Given the description of an element on the screen output the (x, y) to click on. 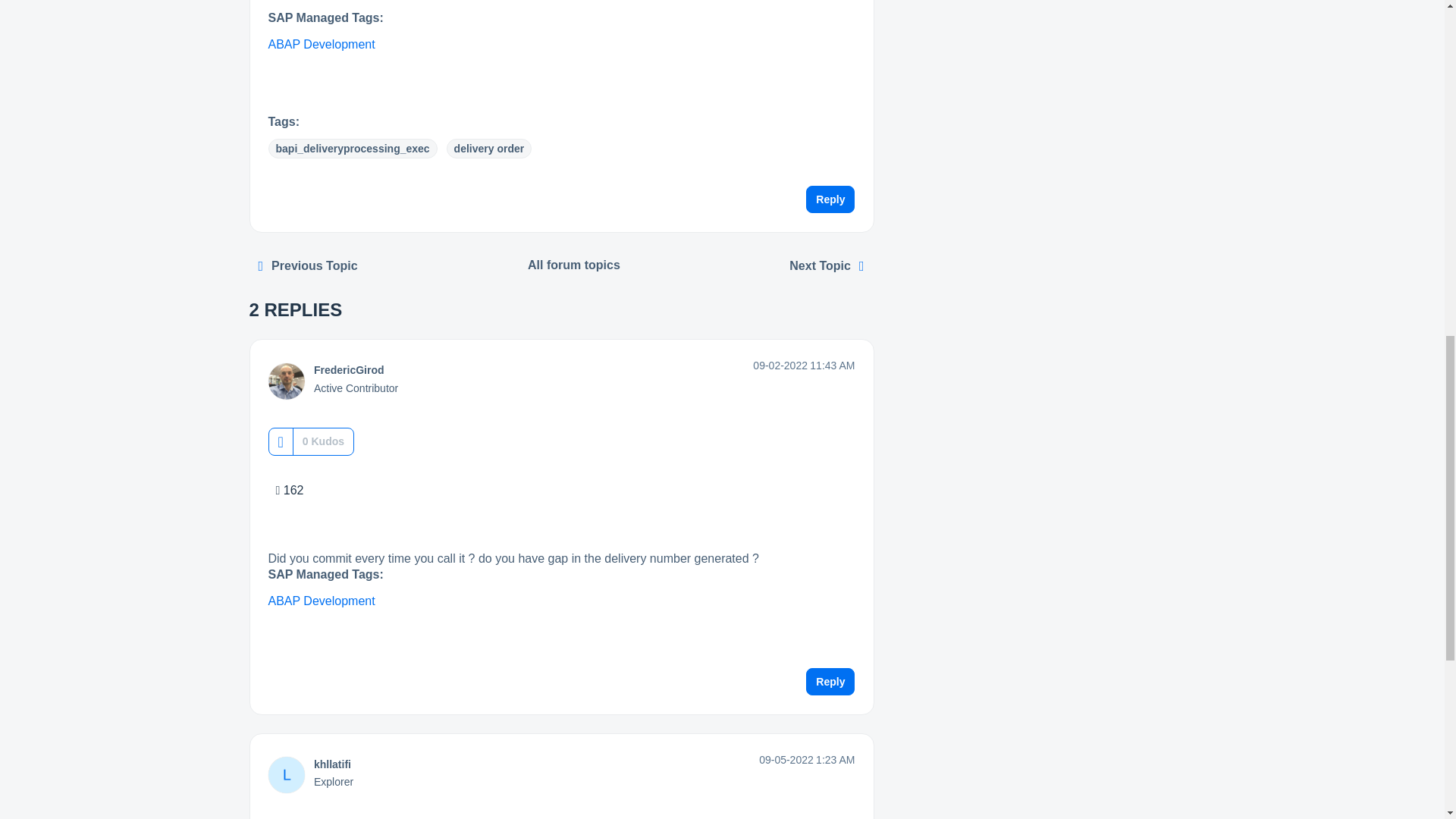
Previous Topic (308, 266)
Next Topic (825, 266)
How To Display Data Of One Row In a Table ? (308, 266)
delivery order (489, 148)
All forum topics (574, 265)
FredericGirod (349, 370)
Reply (830, 199)
Application Development Discussions (574, 265)
ABAP Development (321, 44)
